Given the description of an element on the screen output the (x, y) to click on. 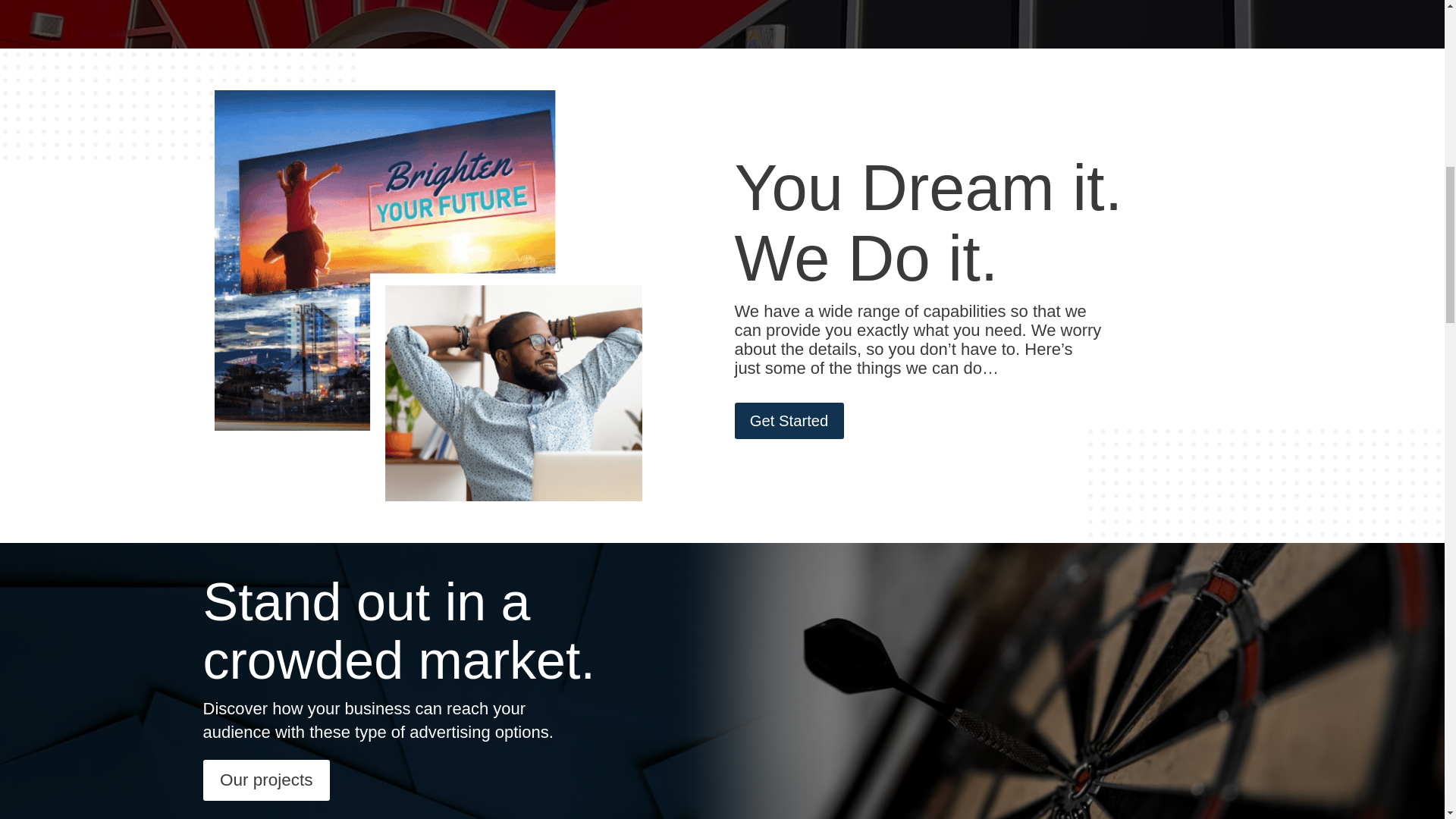
Our projects (266, 780)
Get Started (788, 420)
